Given the description of an element on the screen output the (x, y) to click on. 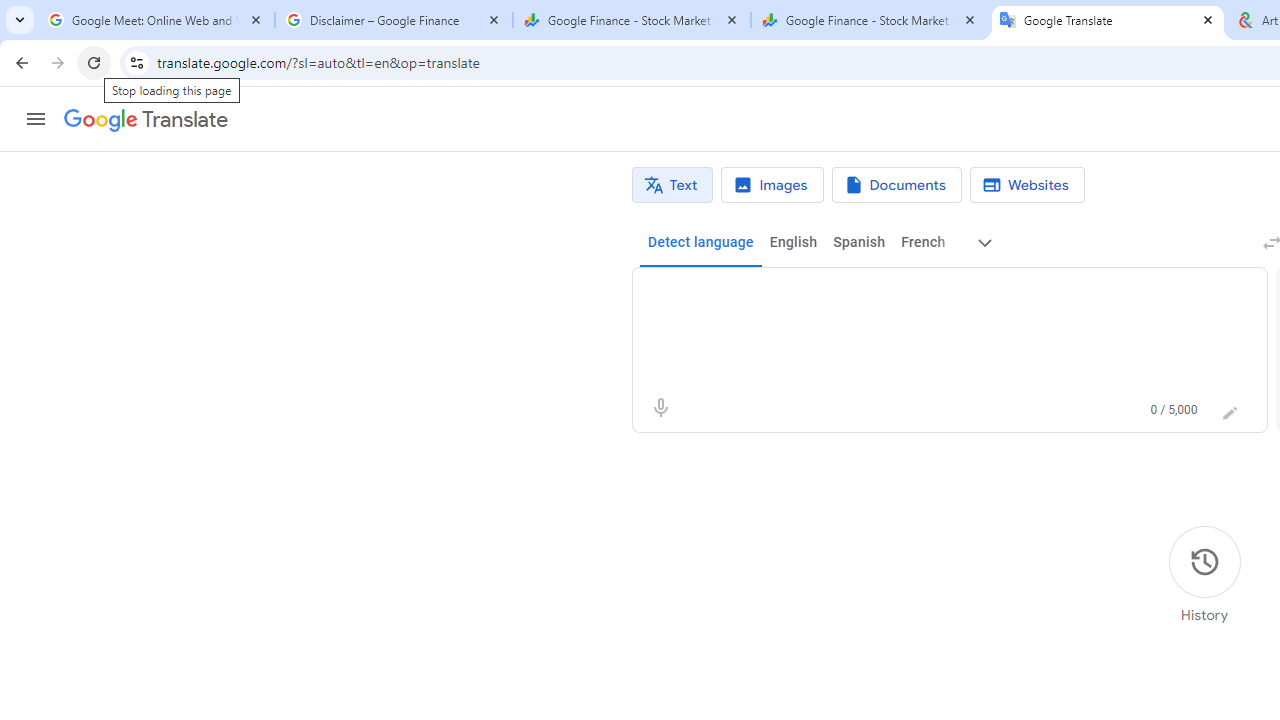
More source languages (985, 242)
Document translation (896, 185)
Translate by voice (660, 407)
Website translation (1026, 185)
Image translation (772, 185)
0 of 5,000 characters used (1173, 410)
Detect language (699, 242)
Google Translate (145, 120)
Text translation (672, 185)
